Given the description of an element on the screen output the (x, y) to click on. 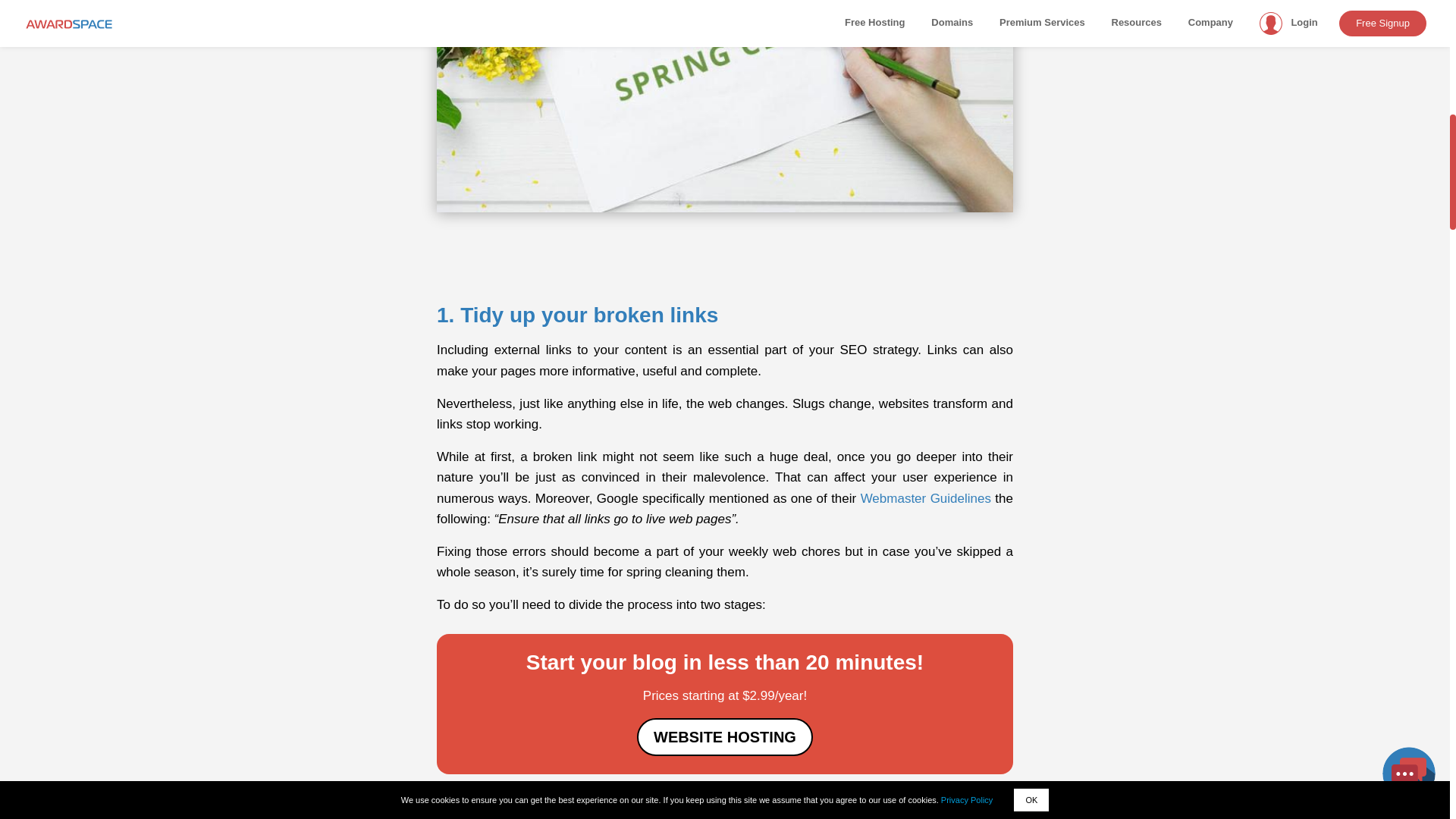
WEBSITE HOSTING (724, 736)
Webmaster Guidelines (925, 498)
